Given the description of an element on the screen output the (x, y) to click on. 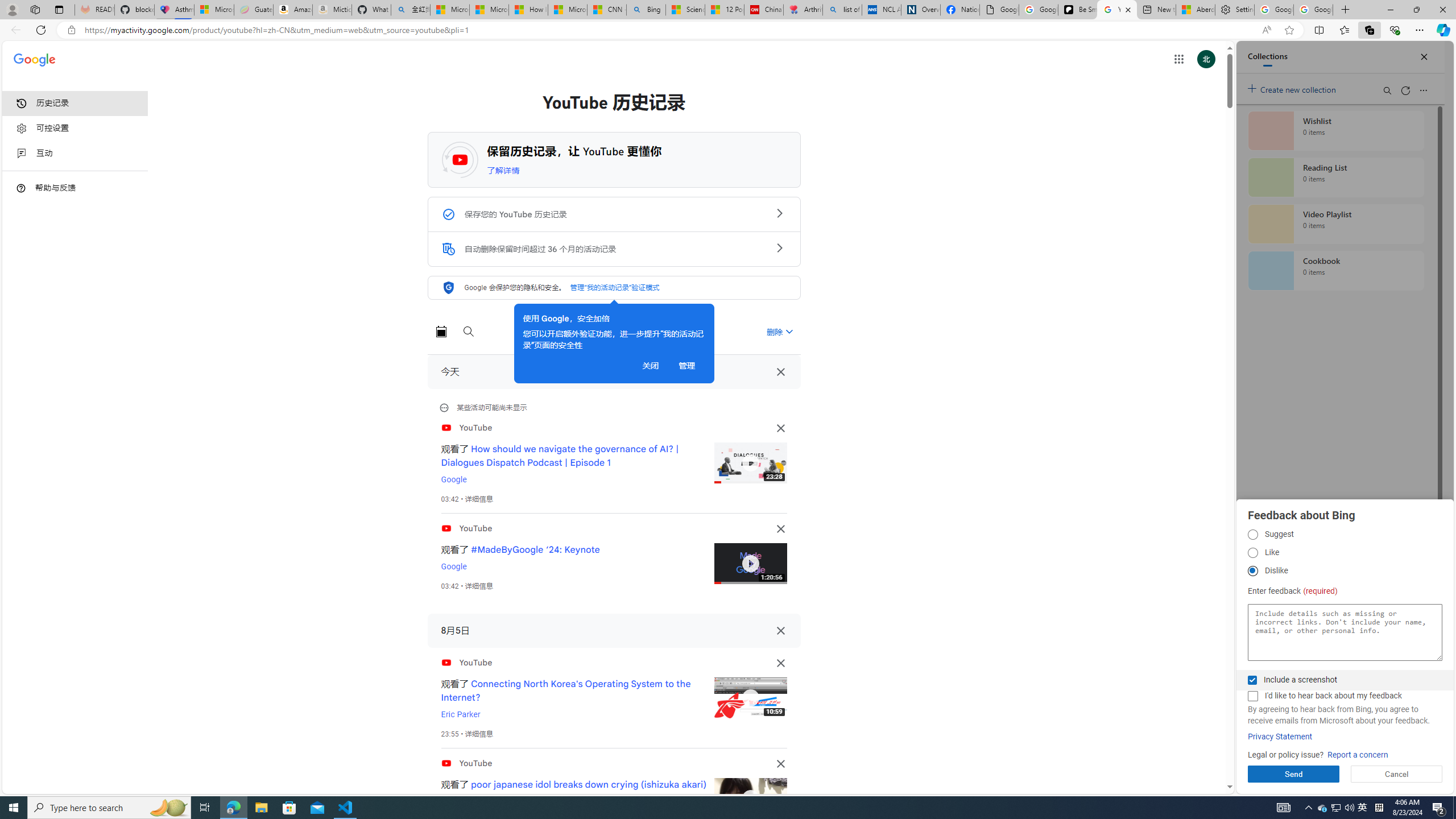
Class: DTiKkd NMm5M (21, 188)
AutomationID: fbpgdgcmchk (1252, 696)
CNN - MSN (606, 9)
Aberdeen, Hong Kong SAR hourly forecast | Microsoft Weather (1195, 9)
